Given the description of an element on the screen output the (x, y) to click on. 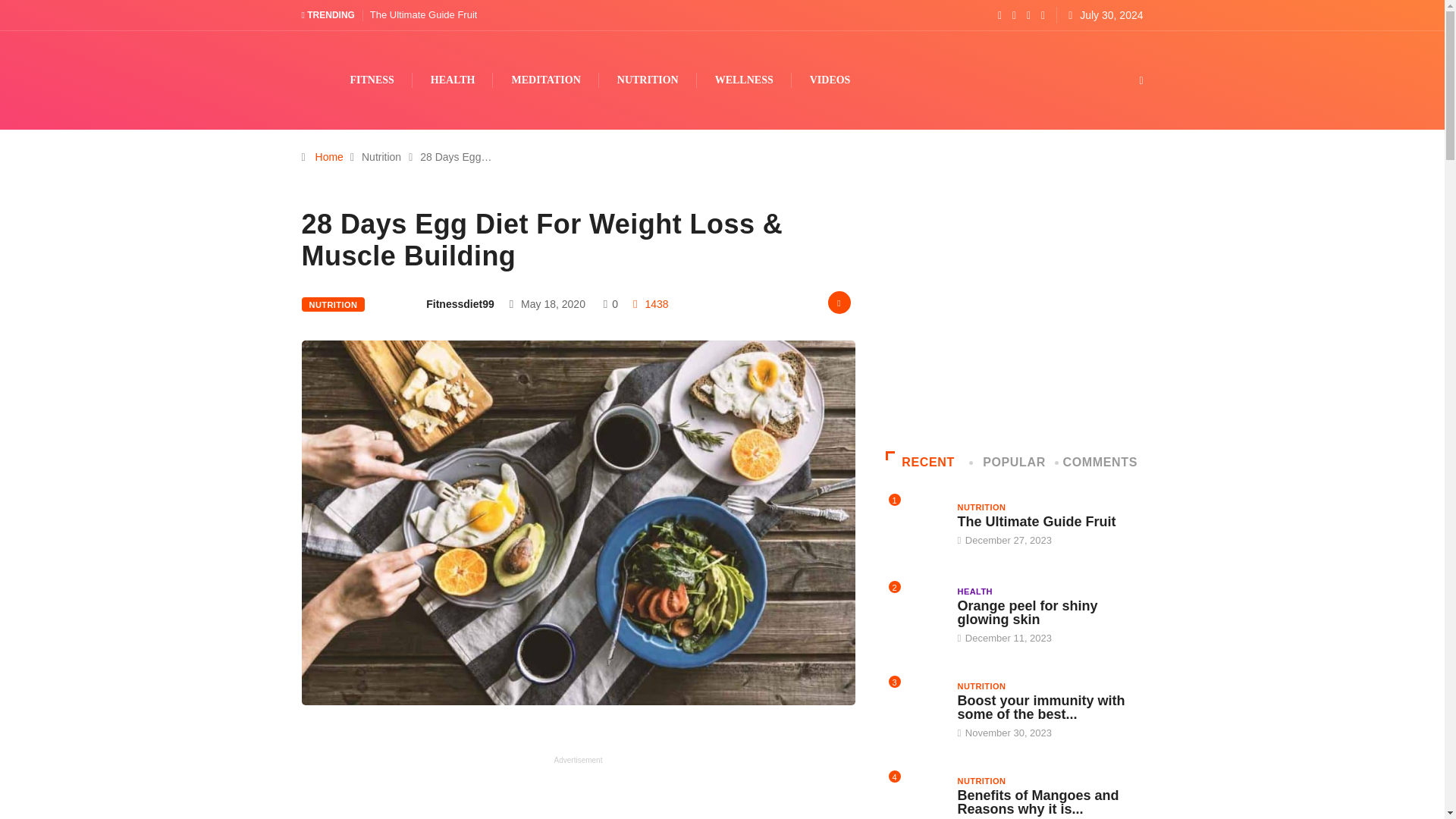
Home (329, 156)
NUTRITION (333, 304)
The Ultimate Guide Fruit (423, 14)
Fitnessdiet99 (459, 303)
